Given the description of an element on the screen output the (x, y) to click on. 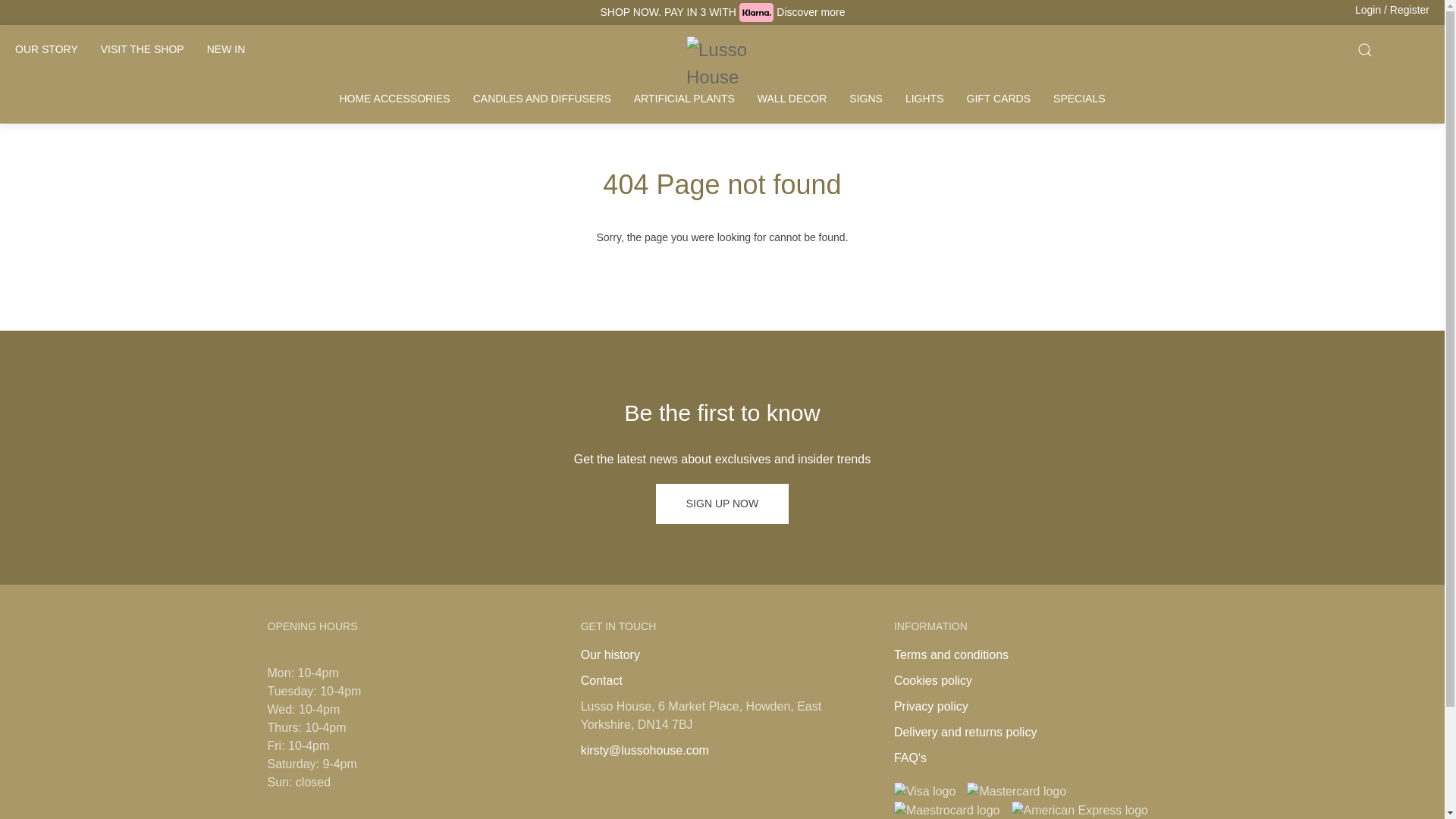
Visit the Lusso House store in Howden (141, 49)
NEW IN (226, 49)
Our Lusso House family story (46, 49)
Discover more (810, 11)
HOME ACCESSORIES (394, 98)
New in (226, 49)
OUR STORY (46, 49)
Lusso House (721, 60)
account login (1392, 10)
VISIT THE SHOP (141, 49)
